Given the description of an element on the screen output the (x, y) to click on. 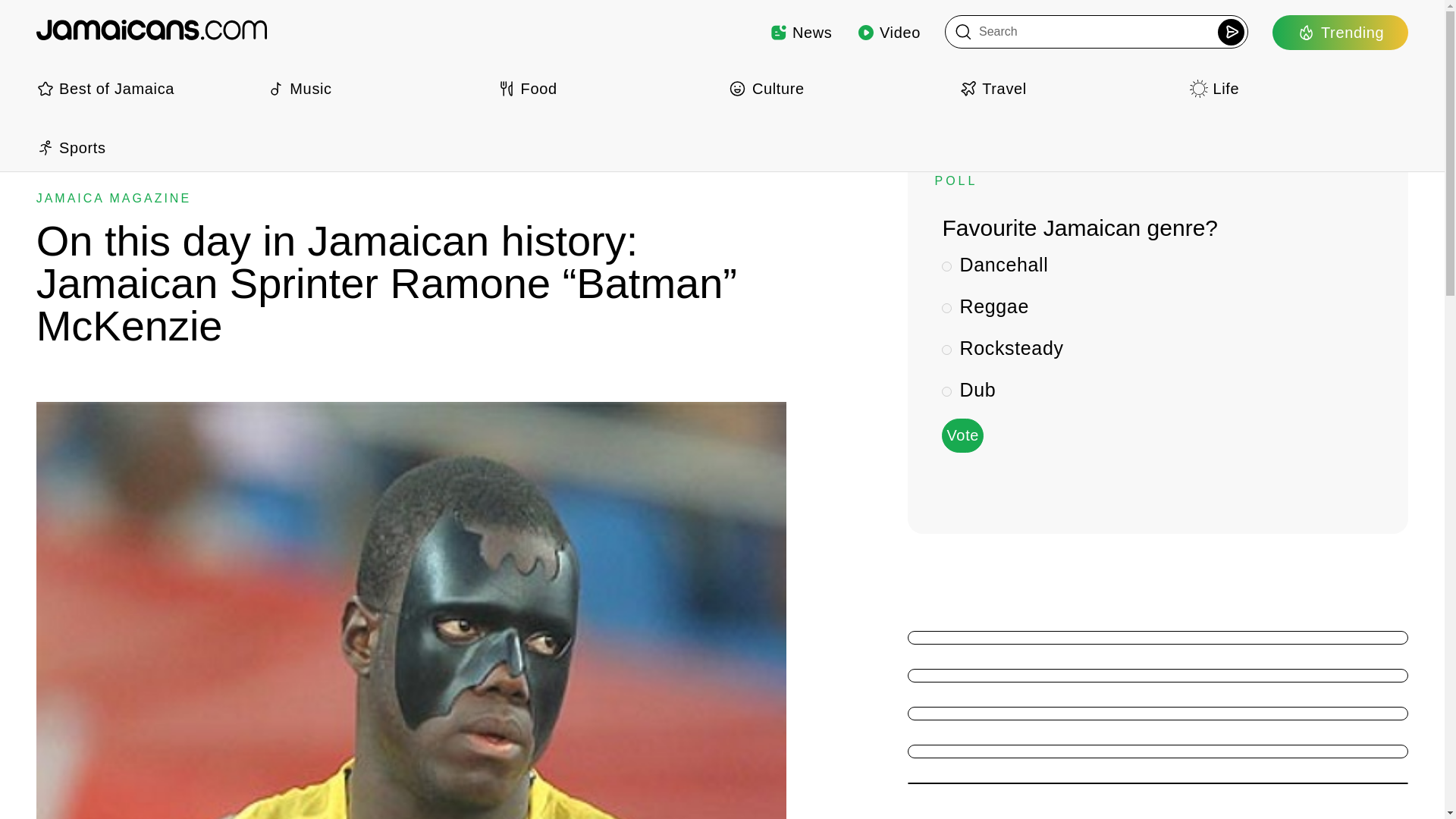
Video (888, 32)
Life (1298, 88)
Best of Jamaica (145, 88)
Culture (837, 88)
Music (375, 88)
Trending (1339, 32)
Sports (145, 147)
20 (947, 266)
Travel (1068, 88)
22 (947, 349)
News (800, 32)
21 (947, 307)
23 (947, 391)
Food (606, 88)
JAMAICA MAGAZINE (113, 197)
